Given the description of an element on the screen output the (x, y) to click on. 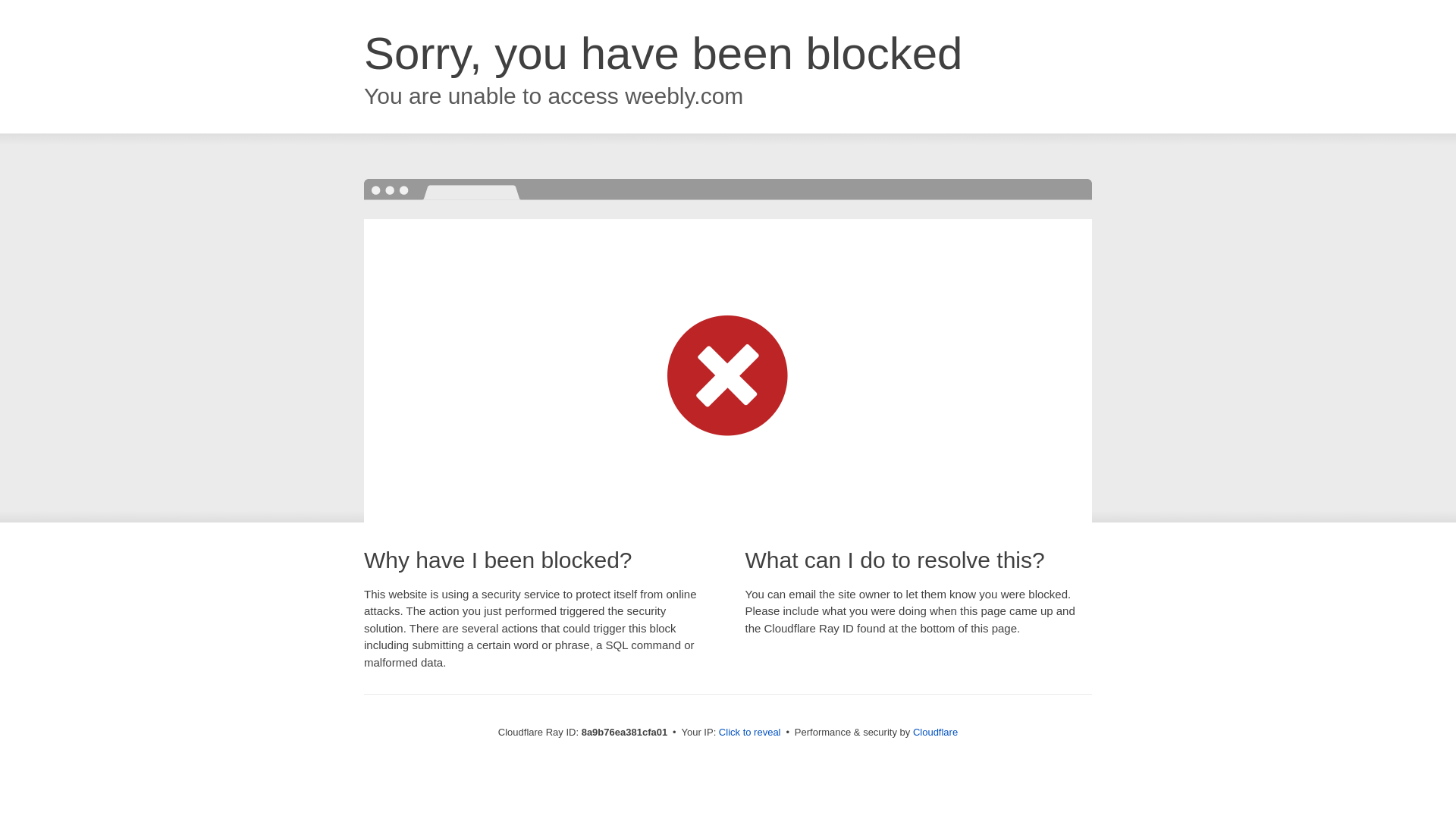
Click to reveal (749, 732)
Cloudflare (935, 731)
